Given the description of an element on the screen output the (x, y) to click on. 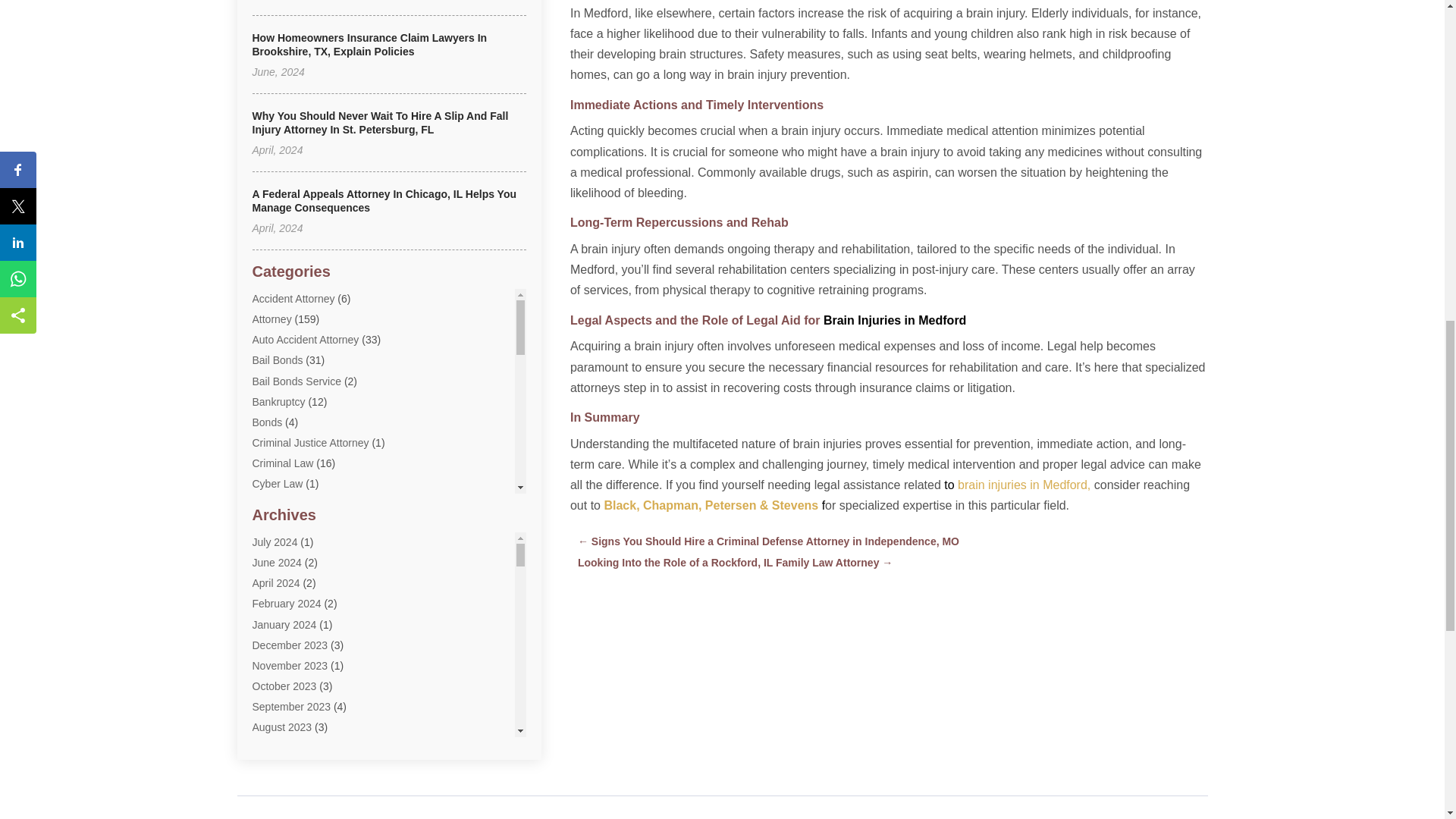
Dui Law Attorneys (294, 545)
Auto Accident Attorney (304, 339)
Family Law (278, 607)
Bail Bonds Service (295, 381)
Bail Bonds (276, 359)
DWI Lawyers (282, 566)
Bonds (266, 422)
Divorce Service (288, 525)
Cyber Law (276, 483)
